Given the description of an element on the screen output the (x, y) to click on. 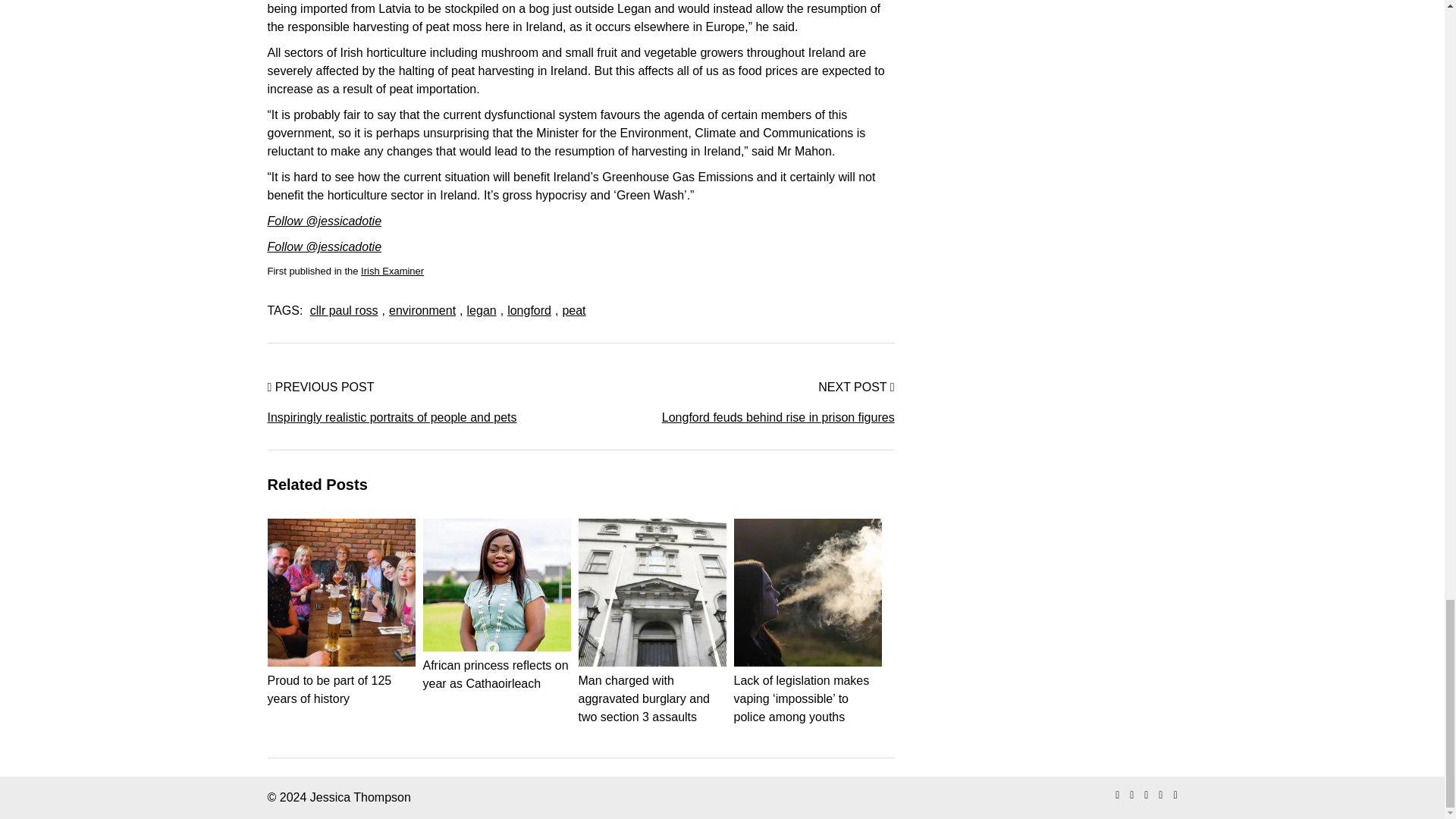
Longford feuds behind rise in prison figures (737, 417)
legan (481, 309)
Proud to be part of 125 years of history (340, 680)
environment (421, 309)
longford (528, 309)
Irish Examiner (392, 270)
African princess reflects on year as Cathaoirleach (496, 665)
peat (573, 309)
Inspiringly realistic portraits of people and pets (423, 417)
cllr paul ross (344, 309)
Proud to be part of 125 years of history (340, 680)
African princess reflects on year as Cathaoirleach (496, 665)
